Given the description of an element on the screen output the (x, y) to click on. 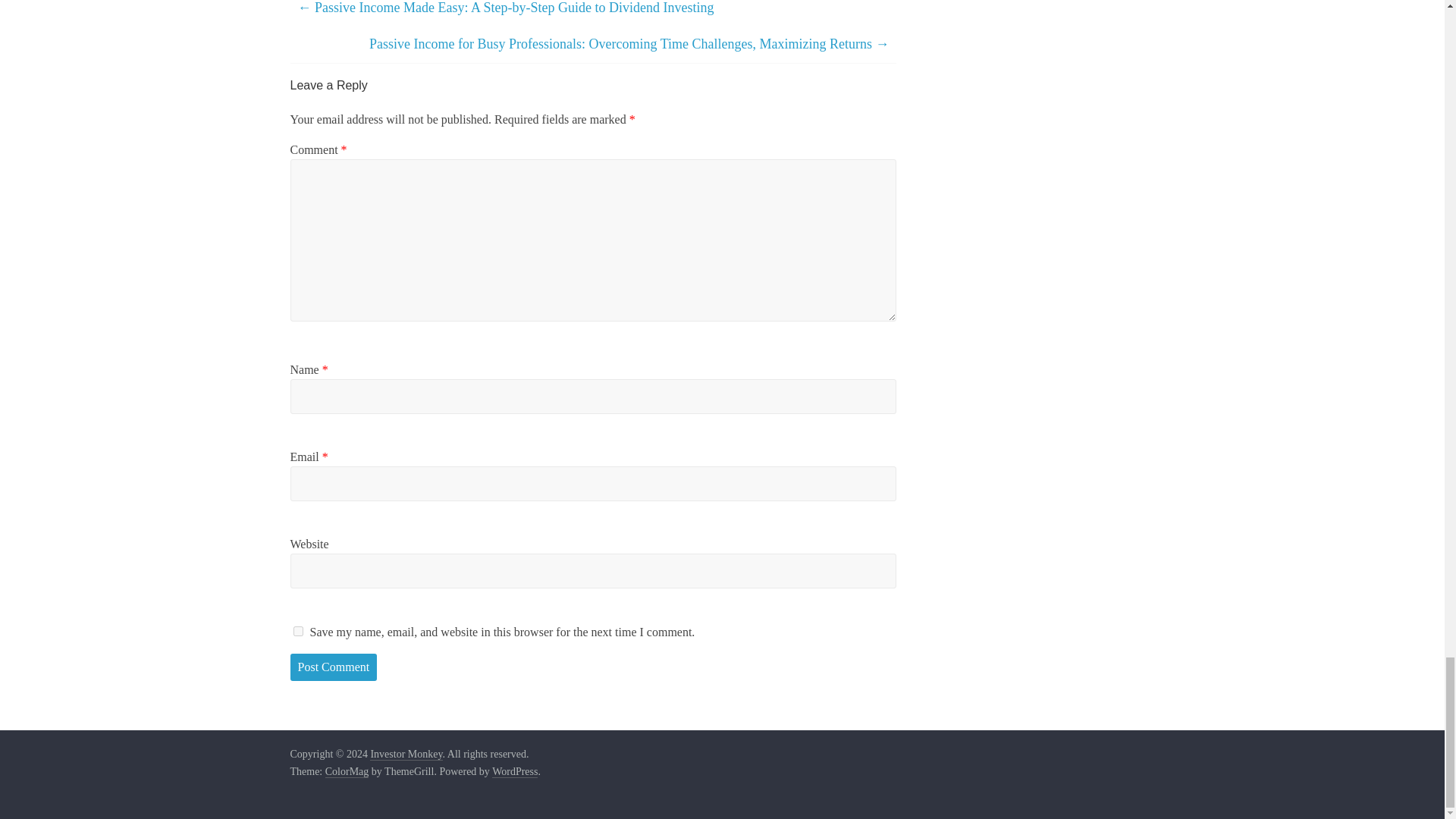
ColorMag (346, 771)
Post Comment (333, 666)
WordPress (514, 771)
Investor Monkey (405, 754)
yes (297, 631)
